Given the description of an element on the screen output the (x, y) to click on. 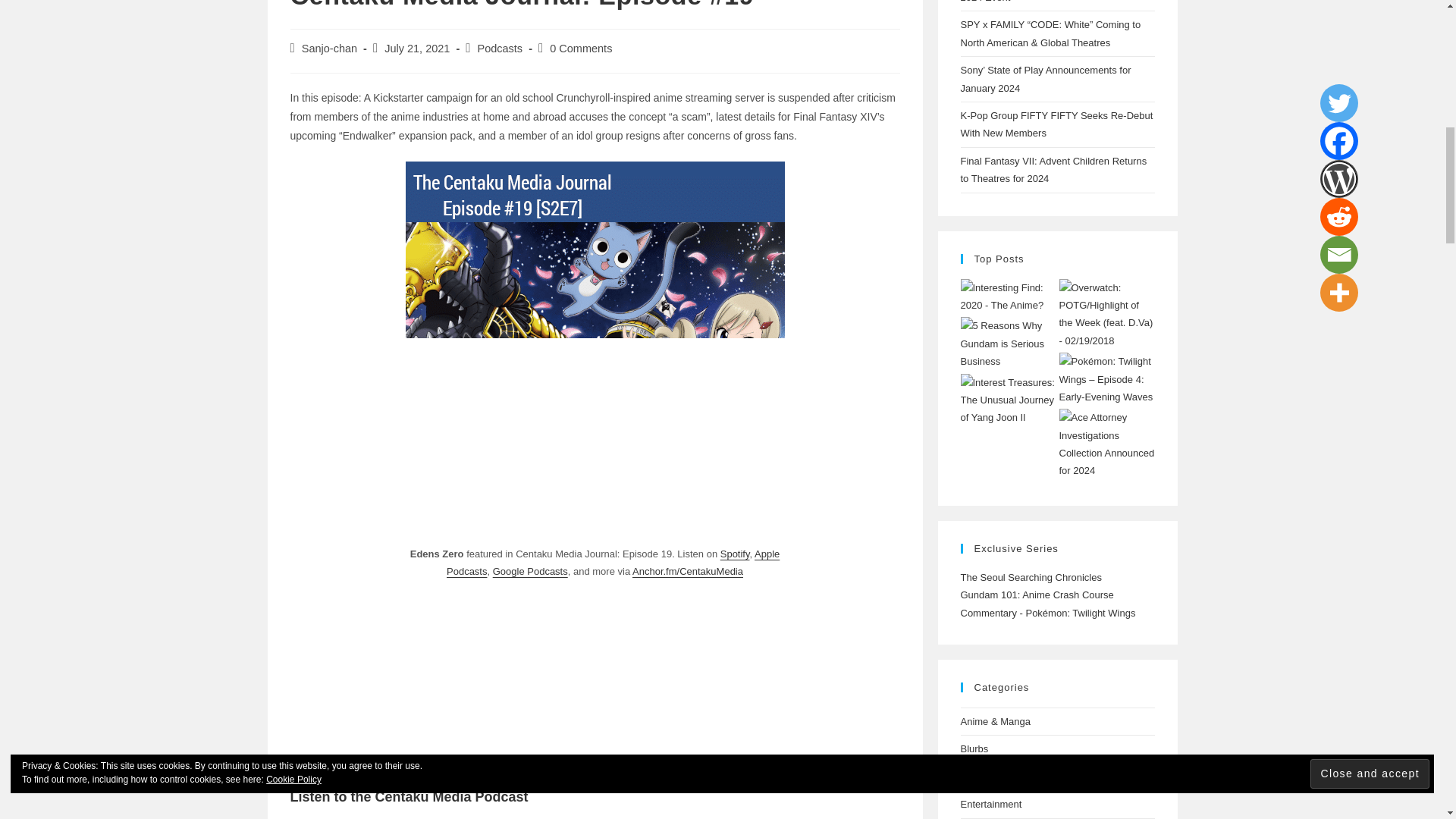
Posts by Sanjo-chan (328, 48)
